Given the description of an element on the screen output the (x, y) to click on. 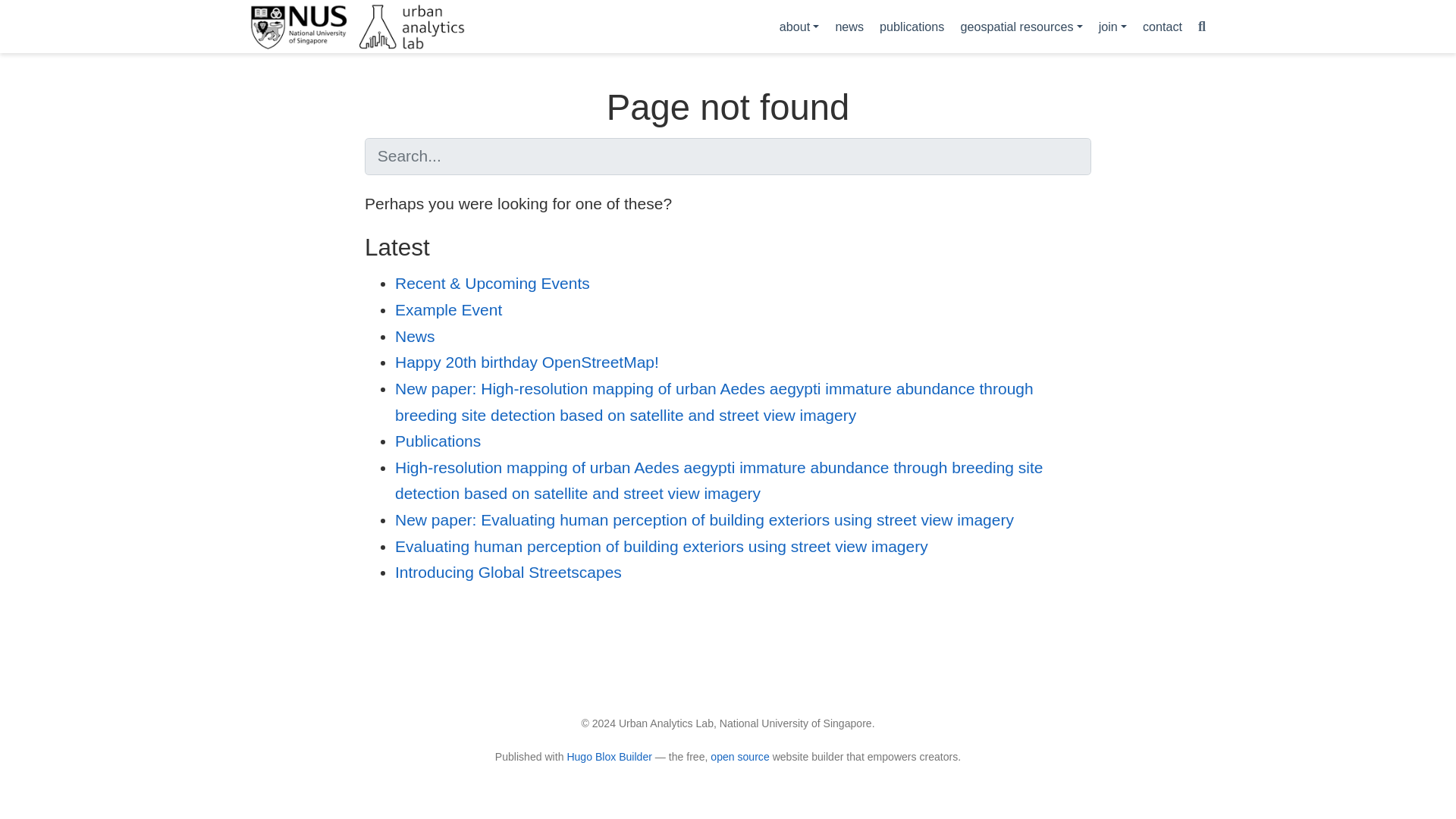
geospatial resources (1021, 25)
news (849, 25)
about (799, 25)
Happy 20th birthday OpenStreetMap! (526, 361)
Introducing Global Streetscapes (507, 571)
publications (912, 25)
open source (739, 756)
Publications (437, 440)
